Given the description of an element on the screen output the (x, y) to click on. 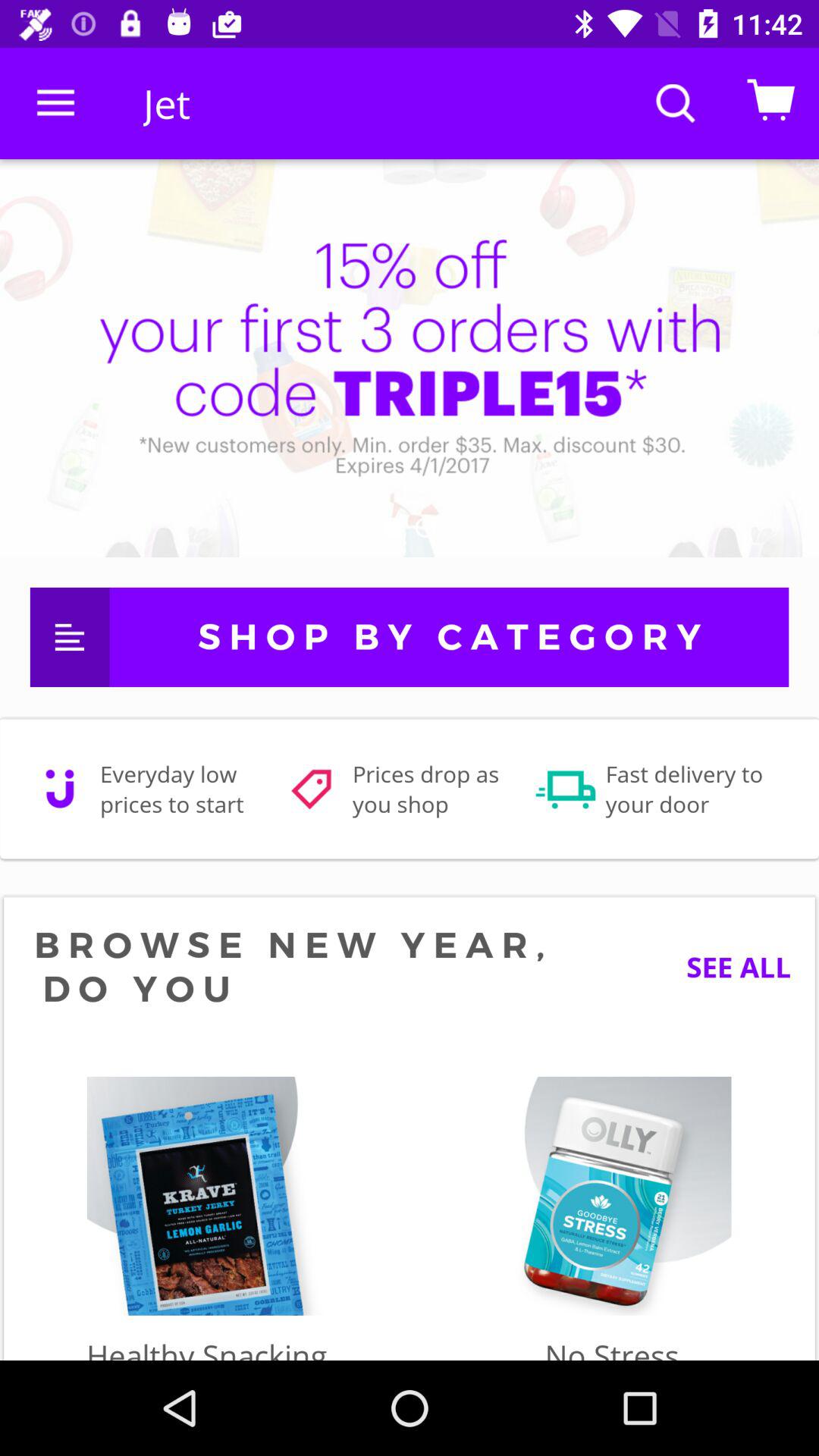
tap item next to jet icon (55, 103)
